Given the description of an element on the screen output the (x, y) to click on. 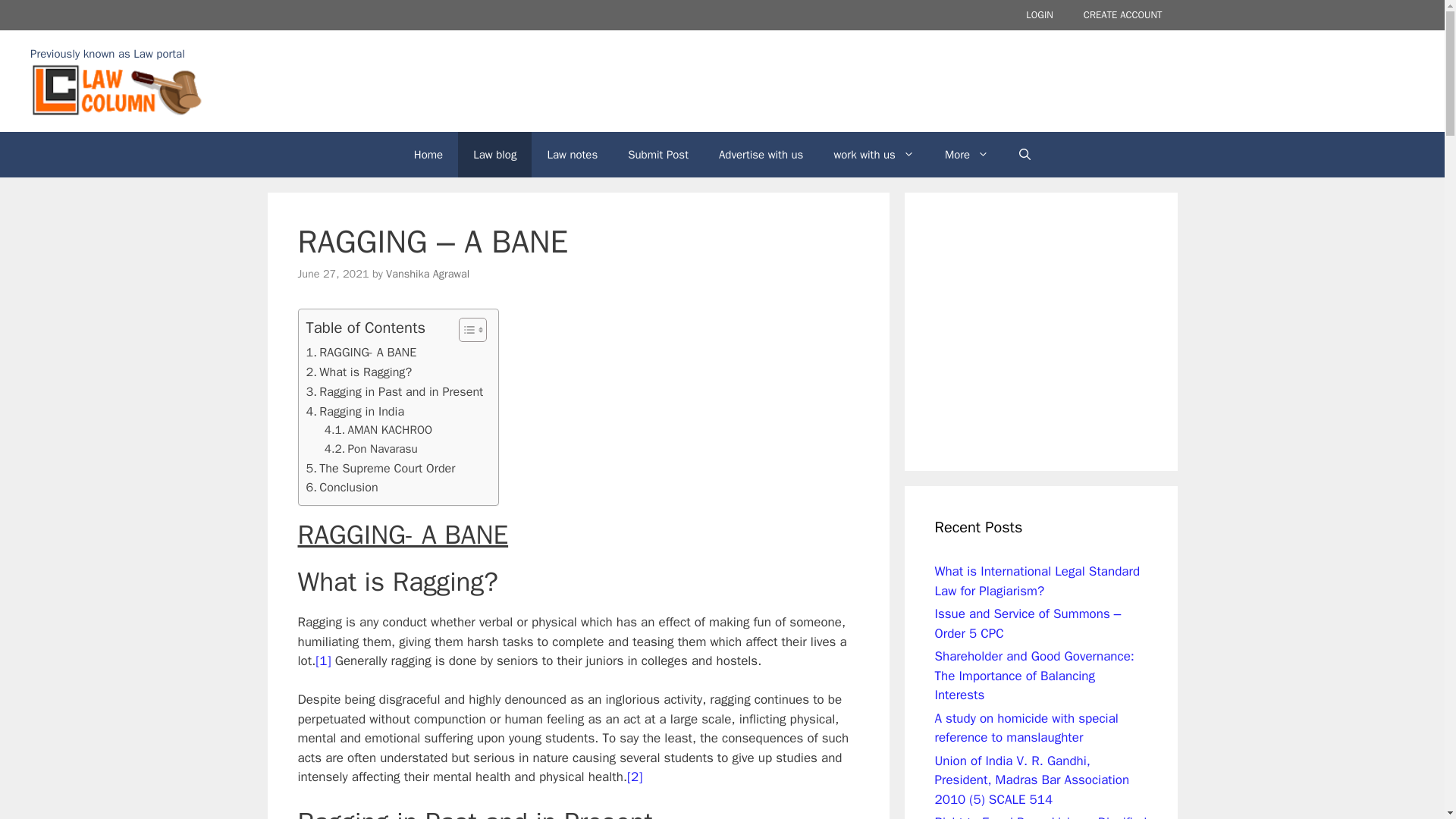
work with us (874, 154)
AMAN KACHROO (378, 429)
CREATE ACCOUNT (1122, 15)
Conclusion (341, 487)
Conclusion (341, 487)
RAGGING- A BANE (360, 352)
Submit Post (657, 154)
More (967, 154)
What is Ragging? (358, 372)
What is Ragging? (358, 372)
Pon Navarasu (370, 448)
View all posts by Vanshika Agrawal (426, 273)
Ragging in Past and in Present (394, 392)
AMAN KACHROO (378, 429)
LOGIN (1039, 15)
